Given the description of an element on the screen output the (x, y) to click on. 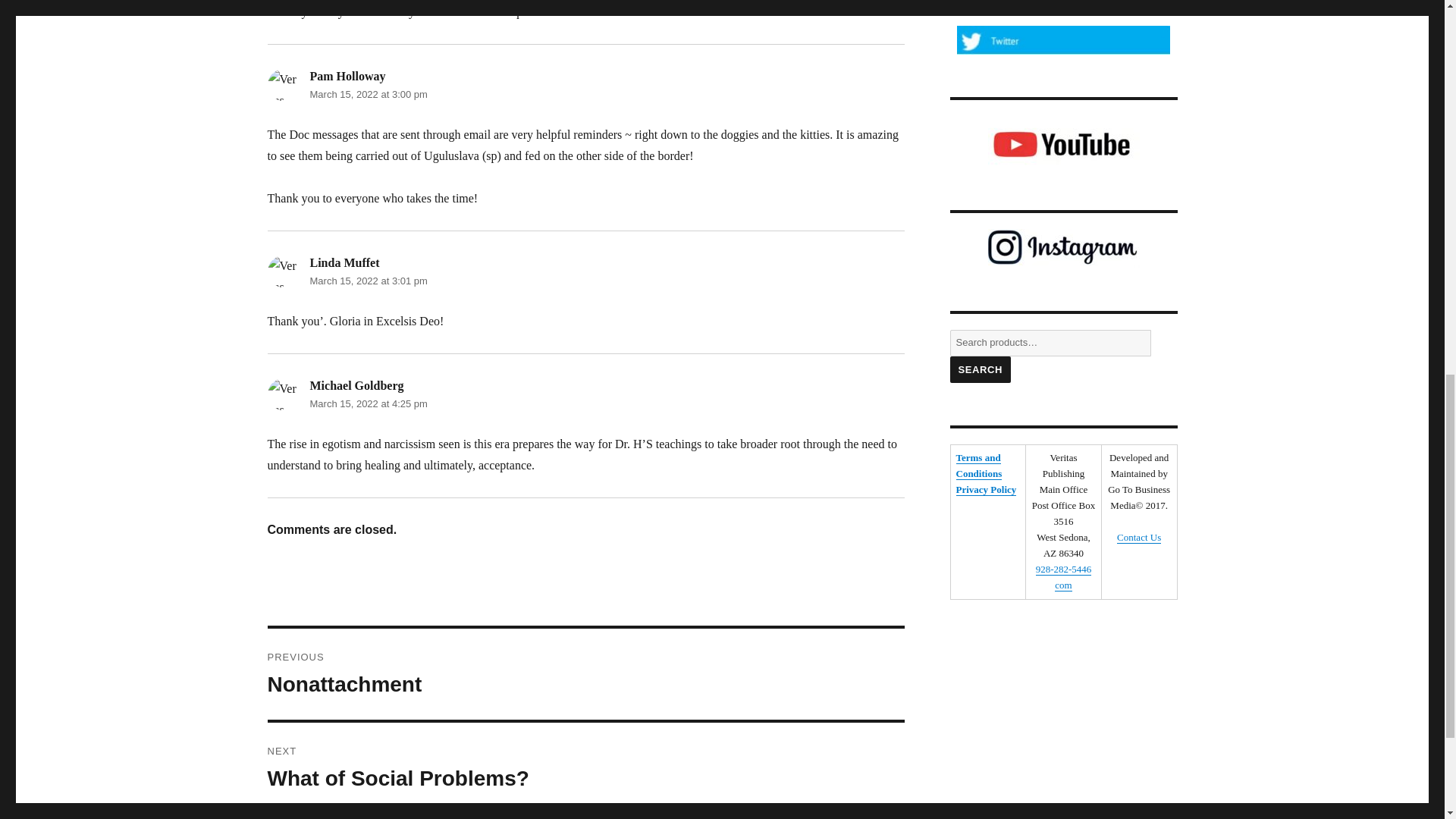
Veritas Administration (282, 84)
March 15, 2022 at 3:00 pm (367, 93)
Veritas Administration (282, 394)
March 15, 2022 at 3:01 pm (367, 280)
Veritas Administration (282, 271)
